Given the description of an element on the screen output the (x, y) to click on. 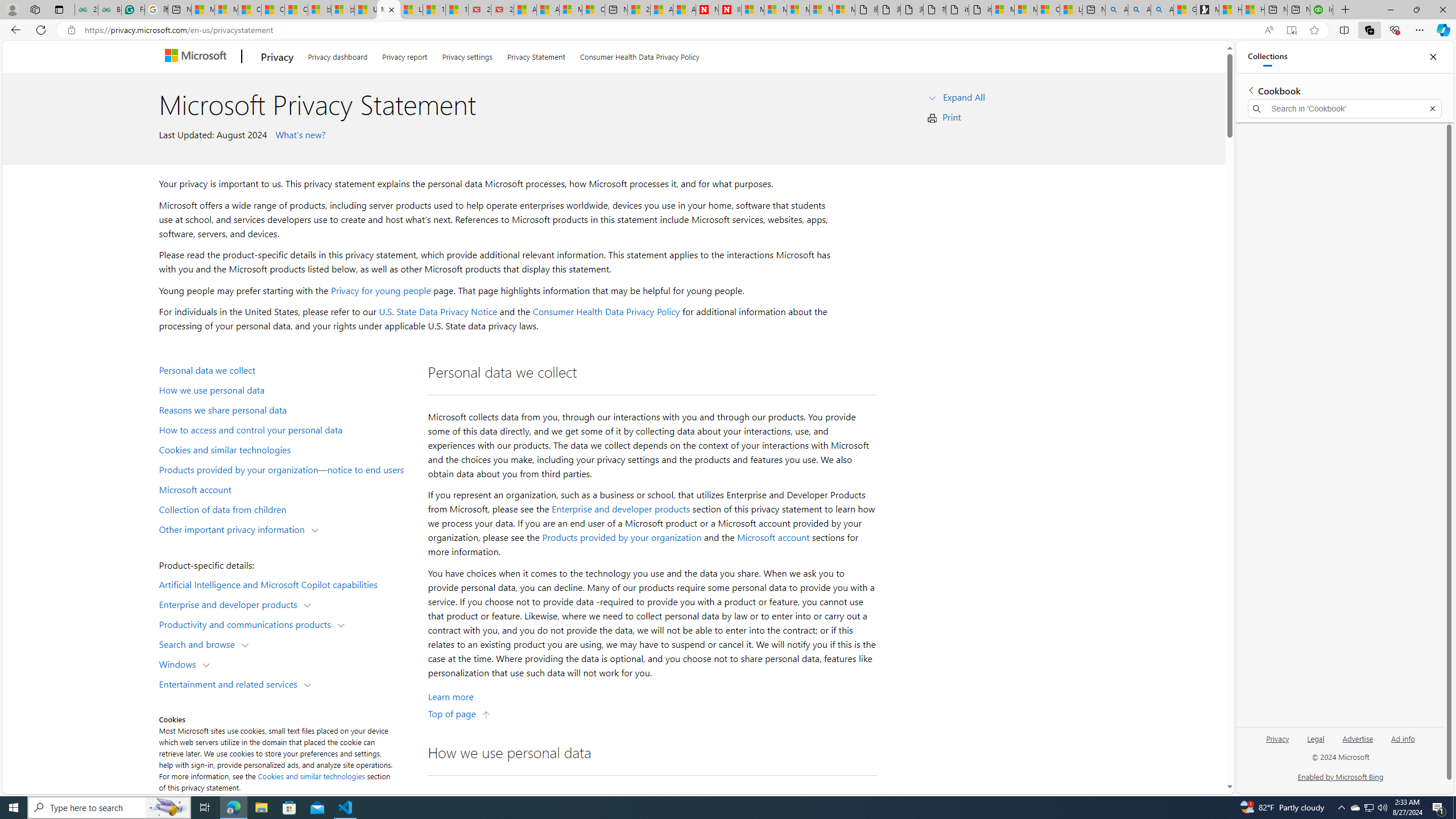
Other important privacy information (234, 528)
Microsoft account (287, 488)
How we use personal data (287, 389)
Illness news & latest pictures from Newsweek.com (729, 9)
Personal data we collect (287, 368)
Entertainment and related services (230, 683)
Privacy Statement (535, 54)
Collection of data from children (287, 508)
Consumer Health Data Privacy Policy (605, 311)
